Given the description of an element on the screen output the (x, y) to click on. 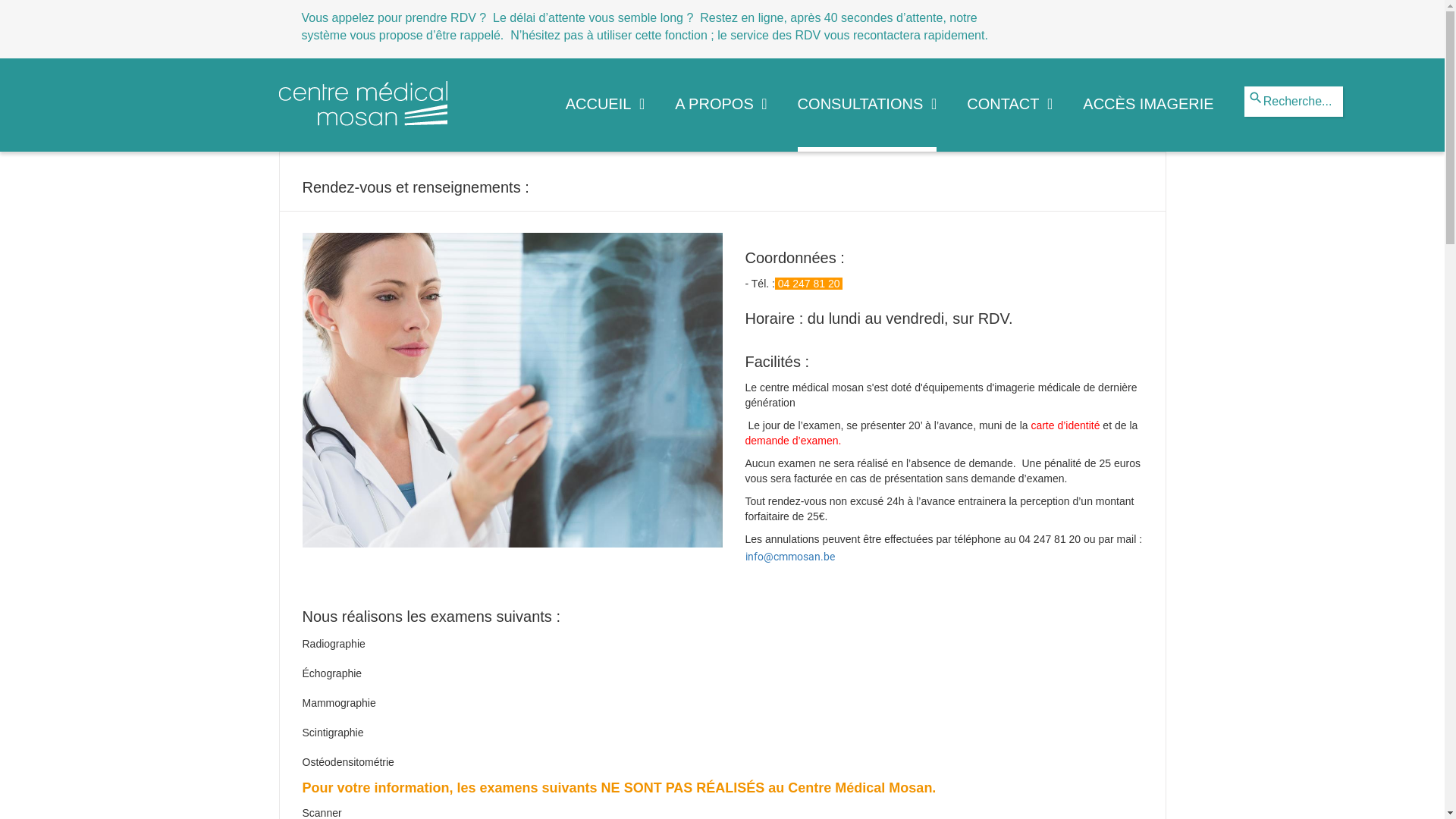
A PROPOS Element type: text (720, 118)
CONSULTATIONS Element type: text (867, 118)
CONTACT Element type: text (1009, 118)
ACCUEIL Element type: text (605, 118)
info@cmmosan.be Element type: text (789, 556)
